Given the description of an element on the screen output the (x, y) to click on. 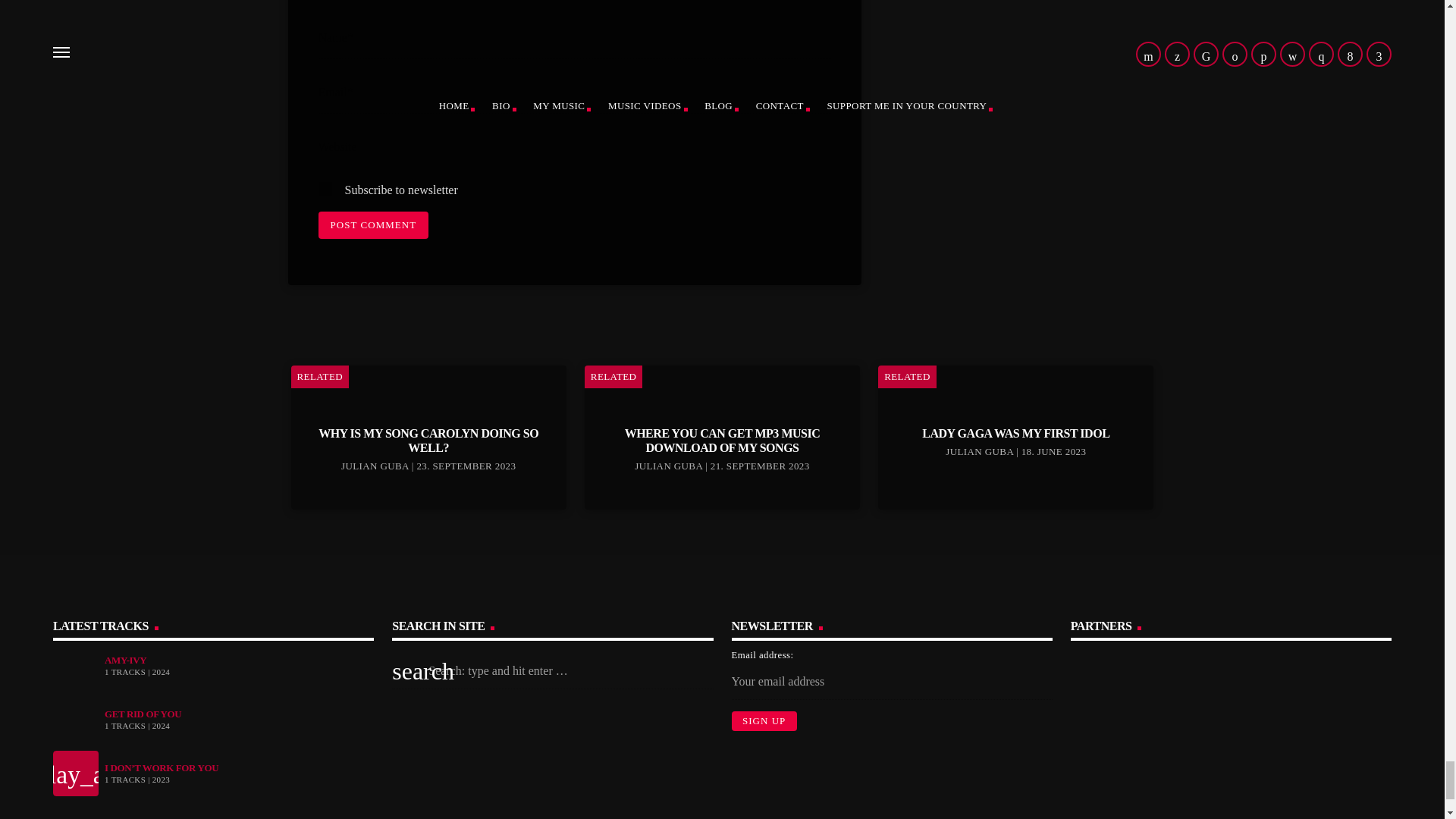
Post Comment (373, 225)
Julian Guba singer songwriter and producer (1315, 702)
Sign up (763, 721)
